Given the description of an element on the screen output the (x, y) to click on. 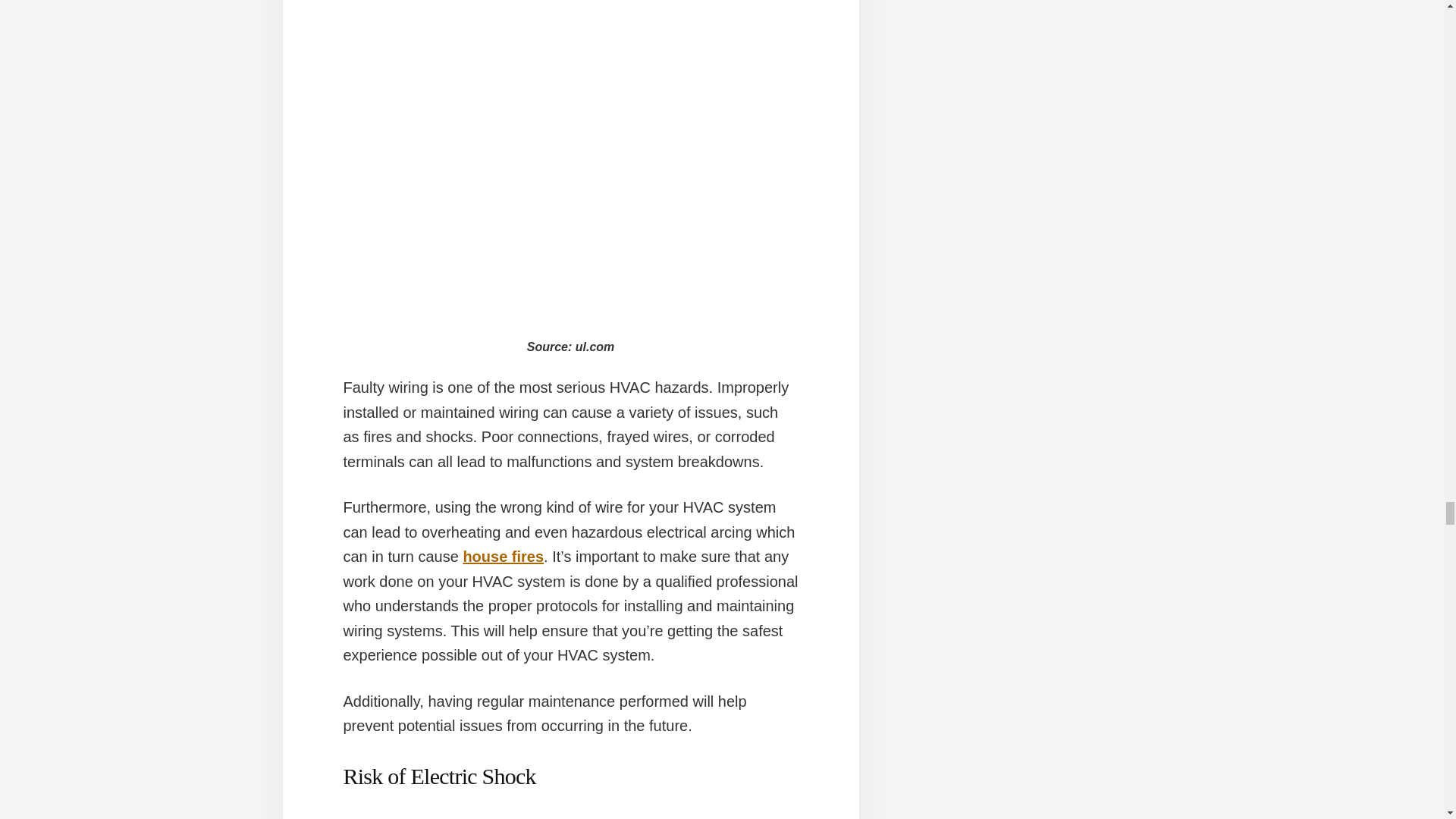
house fires (503, 556)
